Given the description of an element on the screen output the (x, y) to click on. 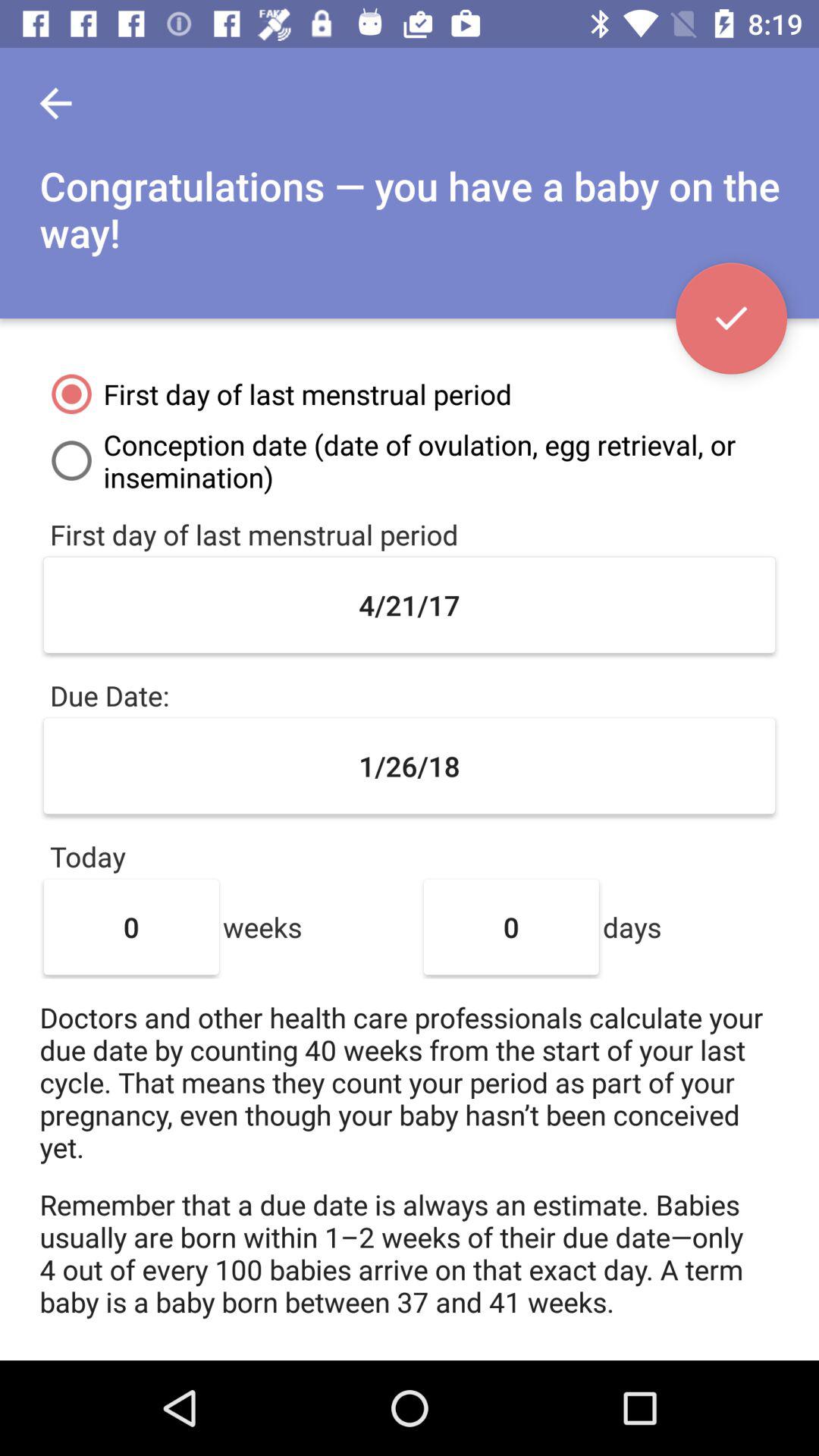
turn on the icon at the top left corner (55, 103)
